Given the description of an element on the screen output the (x, y) to click on. 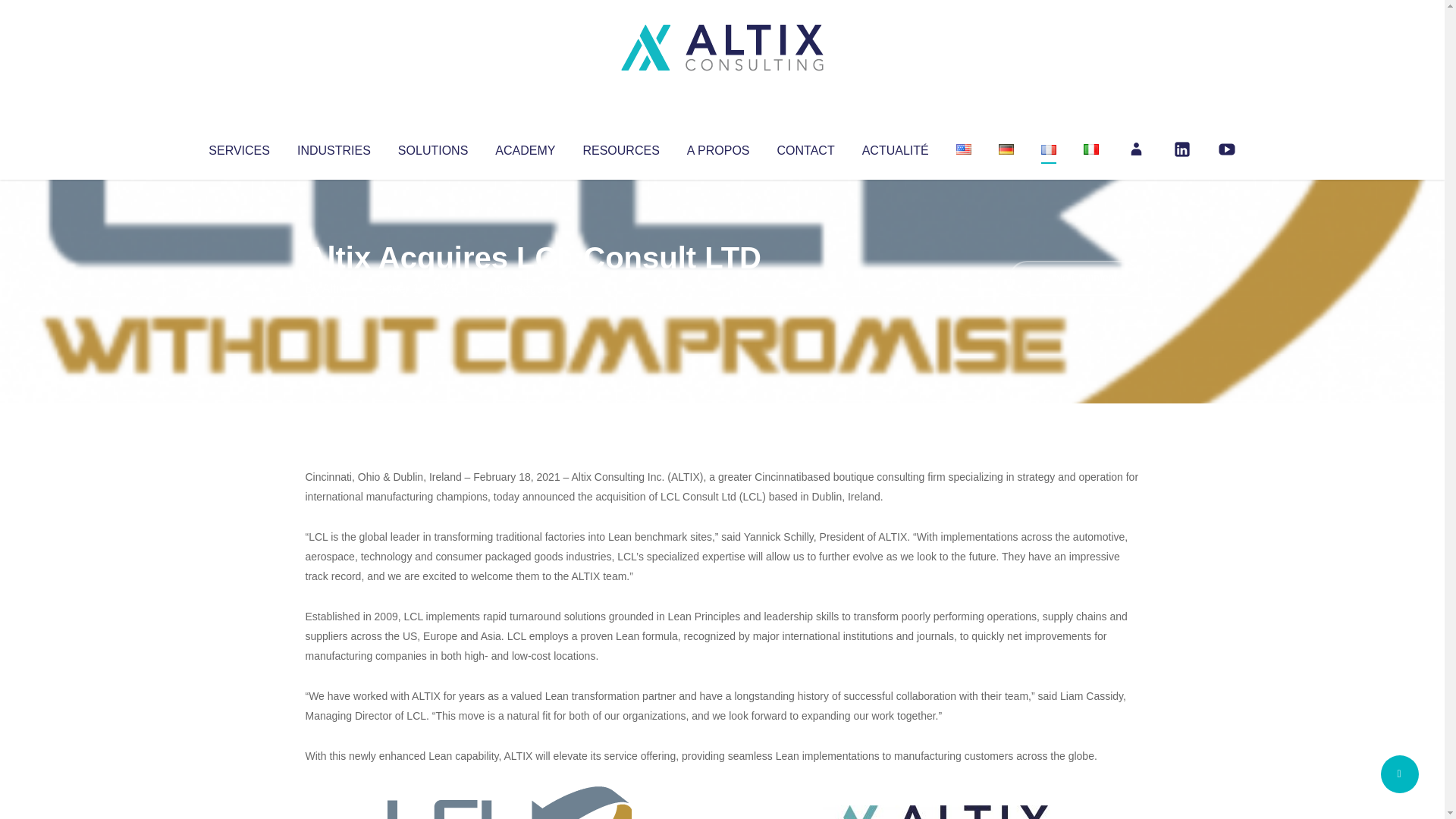
SERVICES (238, 146)
Articles par Altix (333, 287)
ACADEMY (524, 146)
Altix (333, 287)
A PROPOS (718, 146)
Uncategorized (530, 287)
SOLUTIONS (432, 146)
No Comments (1073, 278)
RESOURCES (620, 146)
INDUSTRIES (334, 146)
